Given the description of an element on the screen output the (x, y) to click on. 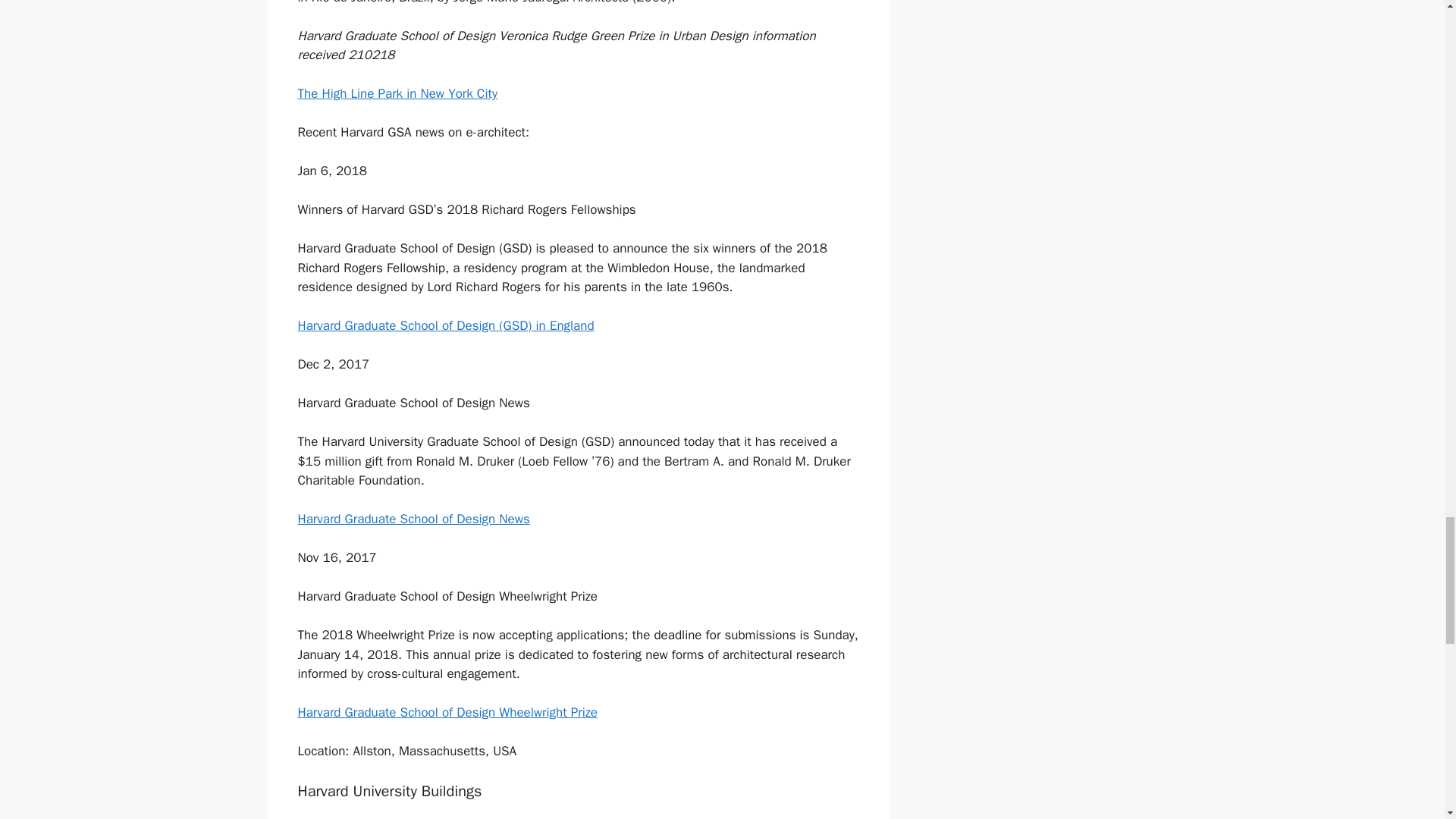
The High Line Park in New York City (397, 93)
Harvard Graduate School of Design Wheelwright Prize (446, 712)
Harvard Graduate School of Design News (413, 519)
